Given the description of an element on the screen output the (x, y) to click on. 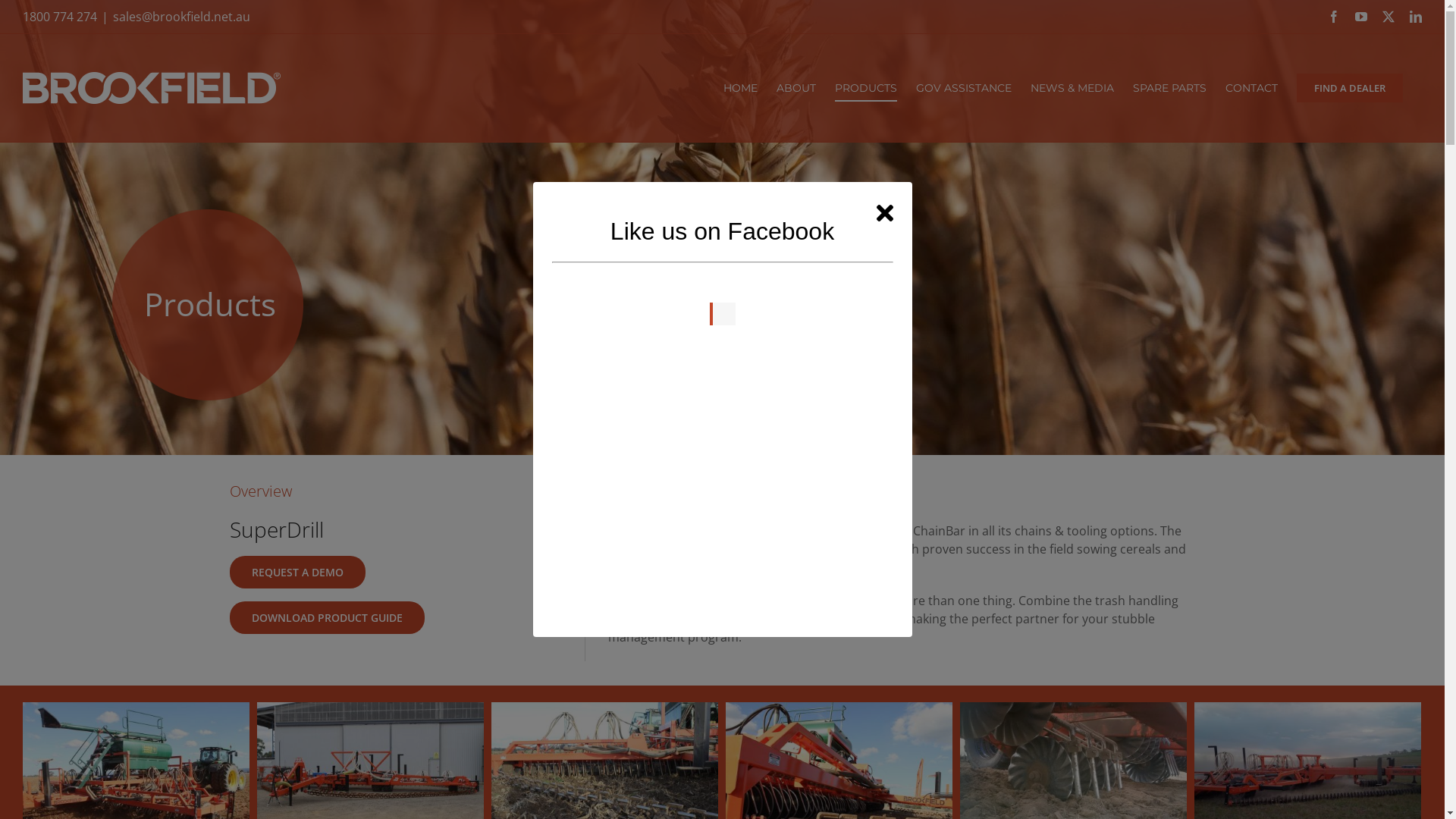
sales@brookfield.net.au Element type: text (181, 16)
Twitter Element type: text (1388, 16)
REQUEST A DEMO Element type: text (296, 571)
Facebook Element type: text (1333, 16)
ABOUT Element type: text (795, 87)
PRODUCTS Element type: text (865, 87)
GOV ASSISTANCE Element type: text (963, 87)
FIND A DEALER Element type: text (1349, 87)
YouTube Element type: text (1361, 16)
HOME Element type: text (740, 87)
NEWS & MEDIA Element type: text (1071, 87)
SPARE PARTS Element type: text (1169, 87)
LinkedIn Element type: text (1415, 16)
CONTACT Element type: text (1251, 87)
DOWNLOAD PRODUCT GUIDE Element type: text (326, 617)
